Given the description of an element on the screen output the (x, y) to click on. 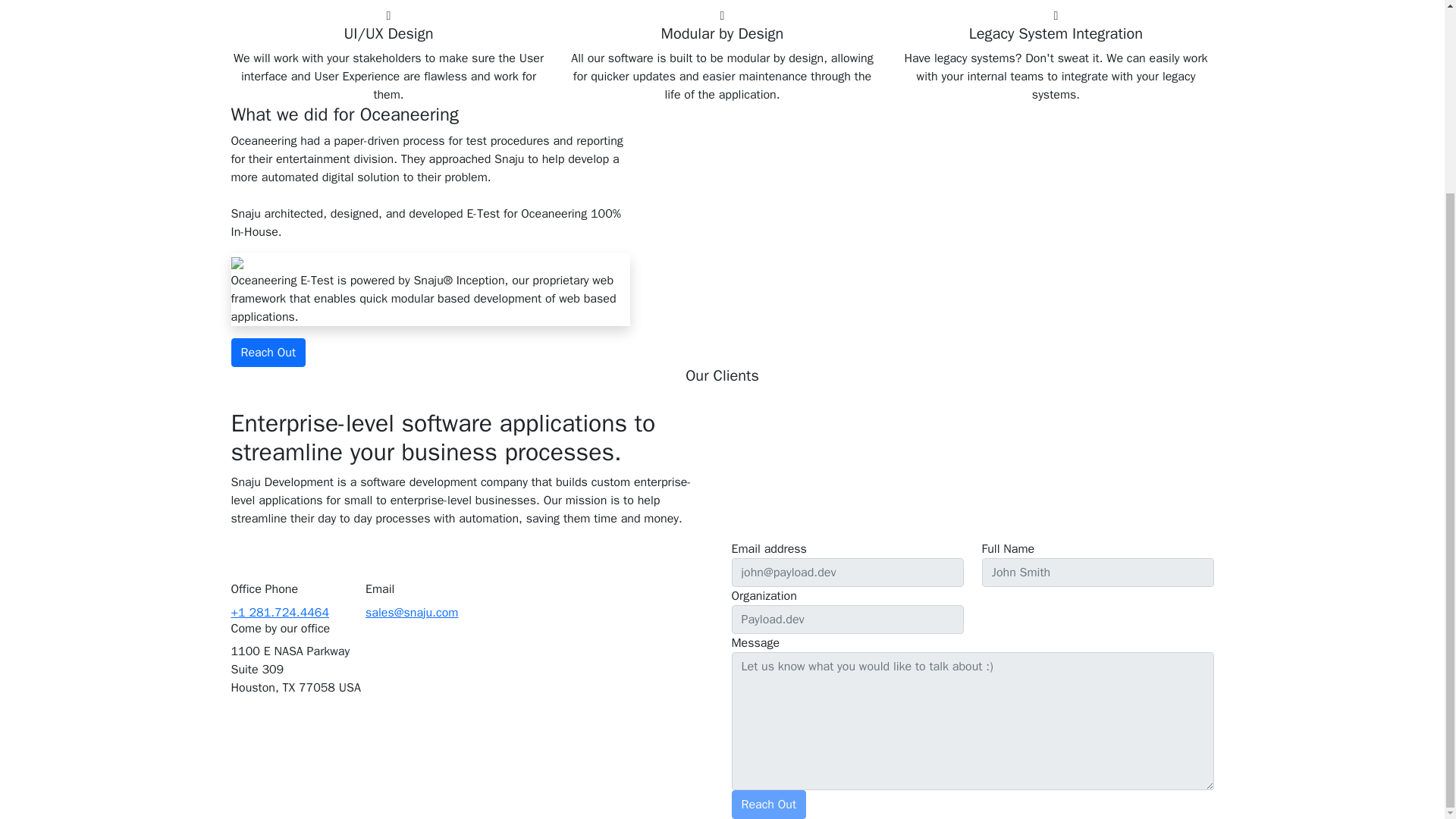
Reach Out (267, 352)
